Given the description of an element on the screen output the (x, y) to click on. 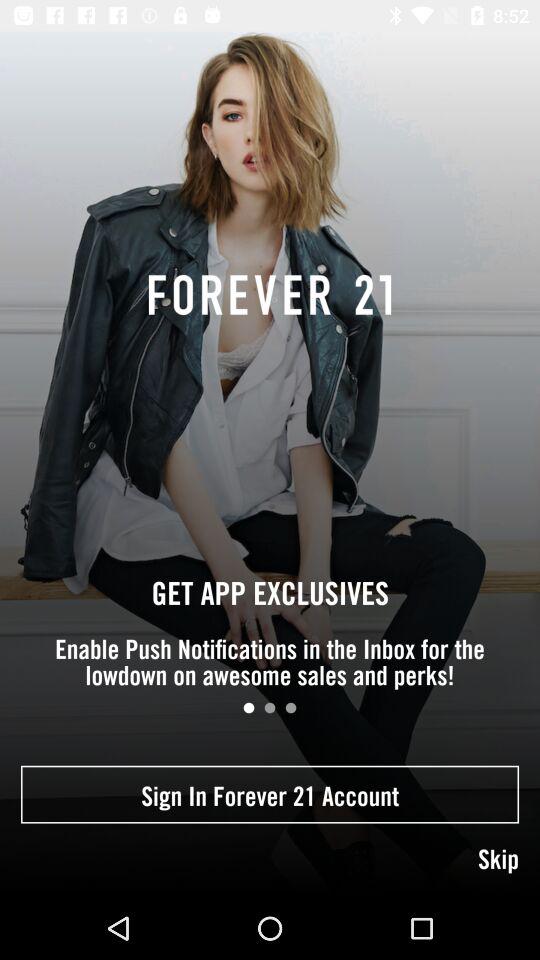
press item below the sign in forever item (270, 860)
